Given the description of an element on the screen output the (x, y) to click on. 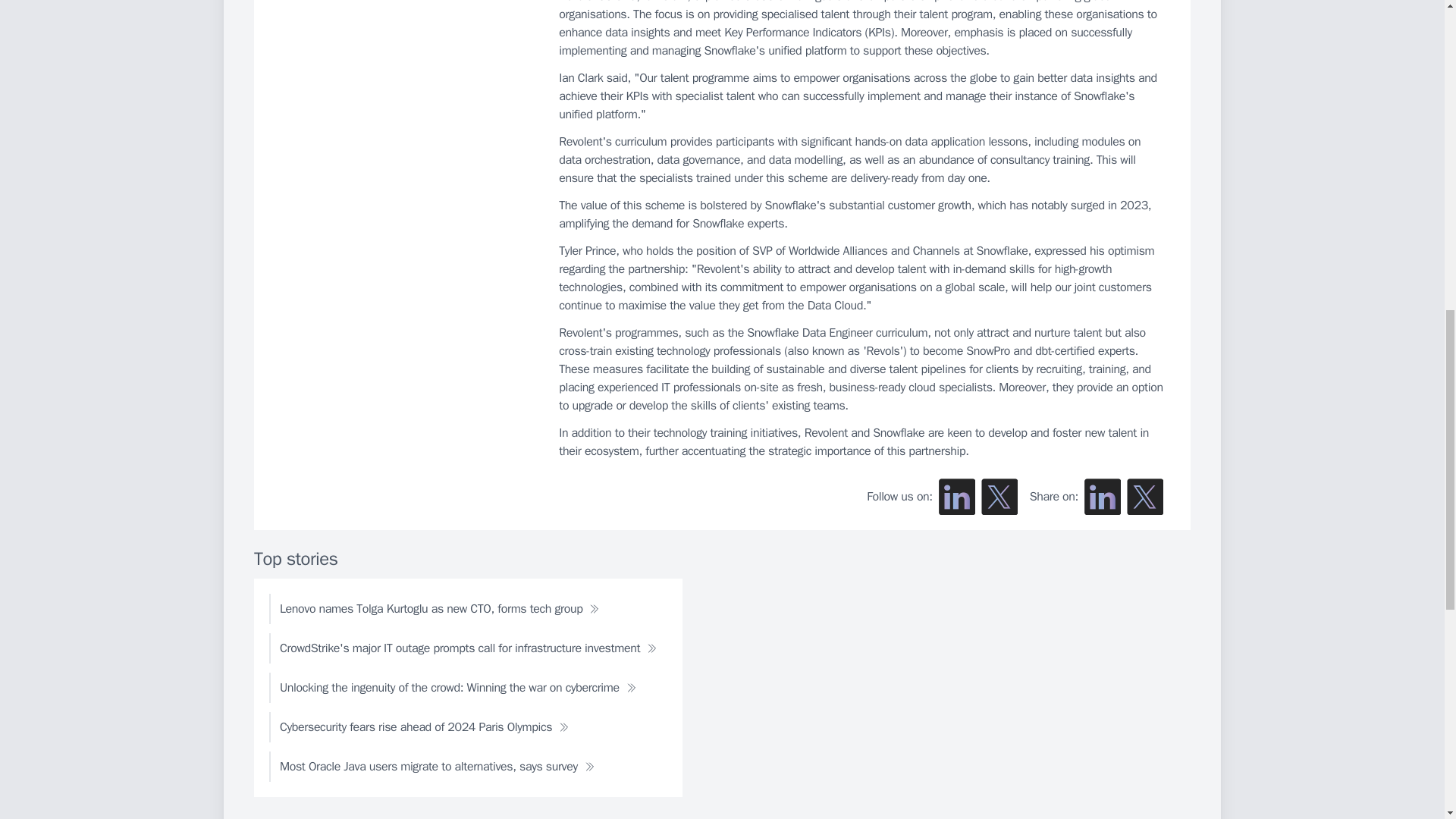
Cybersecurity fears rise ahead of 2024 Paris Olympics (424, 726)
Lenovo names Tolga Kurtoglu as new CTO, forms tech group (439, 608)
Most Oracle Java users migrate to alternatives, says survey (437, 766)
